Given the description of an element on the screen output the (x, y) to click on. 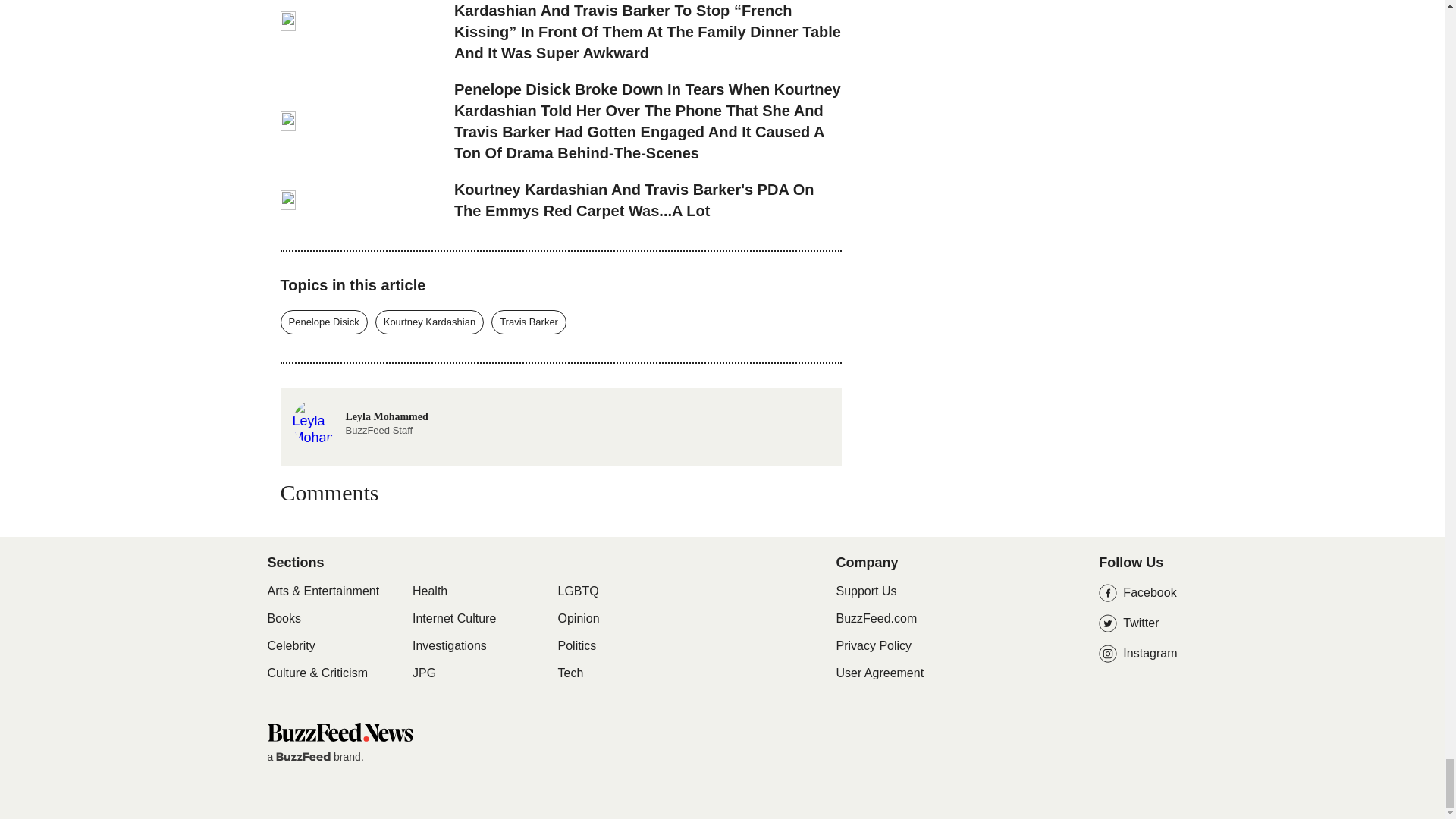
BuzzFeed News Home (339, 732)
BuzzFeed (303, 756)
